Given the description of an element on the screen output the (x, y) to click on. 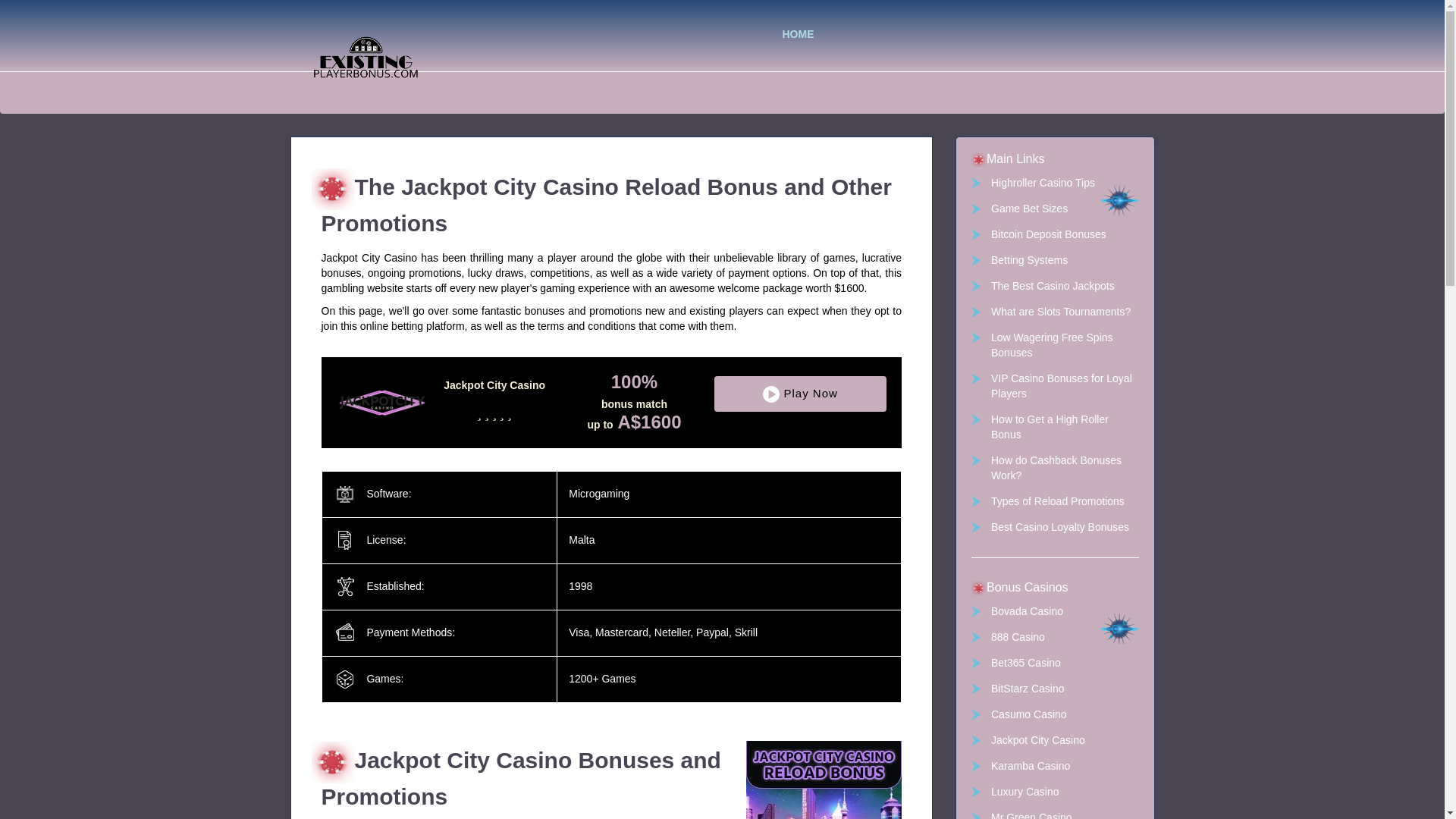
Bitcoin Deposit Bonuses (1054, 233)
How do Cashback Bonuses Work? (1054, 467)
What are Slots Tournaments? (1054, 311)
Casumo Casino (1054, 713)
888 Casino (1054, 636)
The Best Casino Jackpots (1054, 285)
Bet365 Casino (1054, 662)
Play Now (800, 393)
Betting Systems (1054, 259)
Low Wagering Free Spins Bonuses (1054, 345)
Bovada Casino (1054, 611)
Jackpot City Casino (1054, 739)
Luxury Casino (1054, 791)
BitStarz Casino (1054, 688)
How to Get a High Roller Bonus (1054, 426)
